Given the description of an element on the screen output the (x, y) to click on. 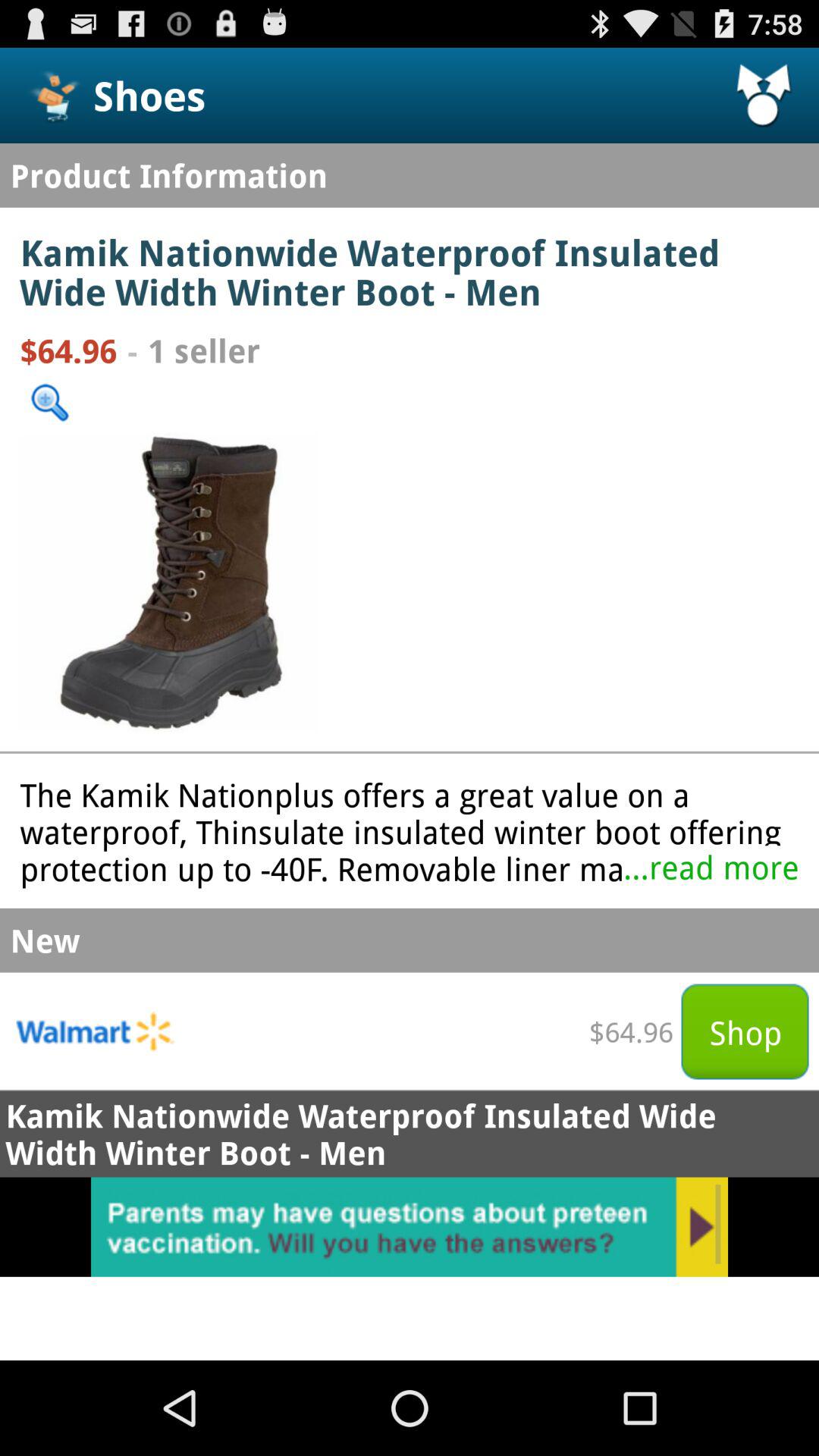
advertisement (409, 1226)
